Given the description of an element on the screen output the (x, y) to click on. 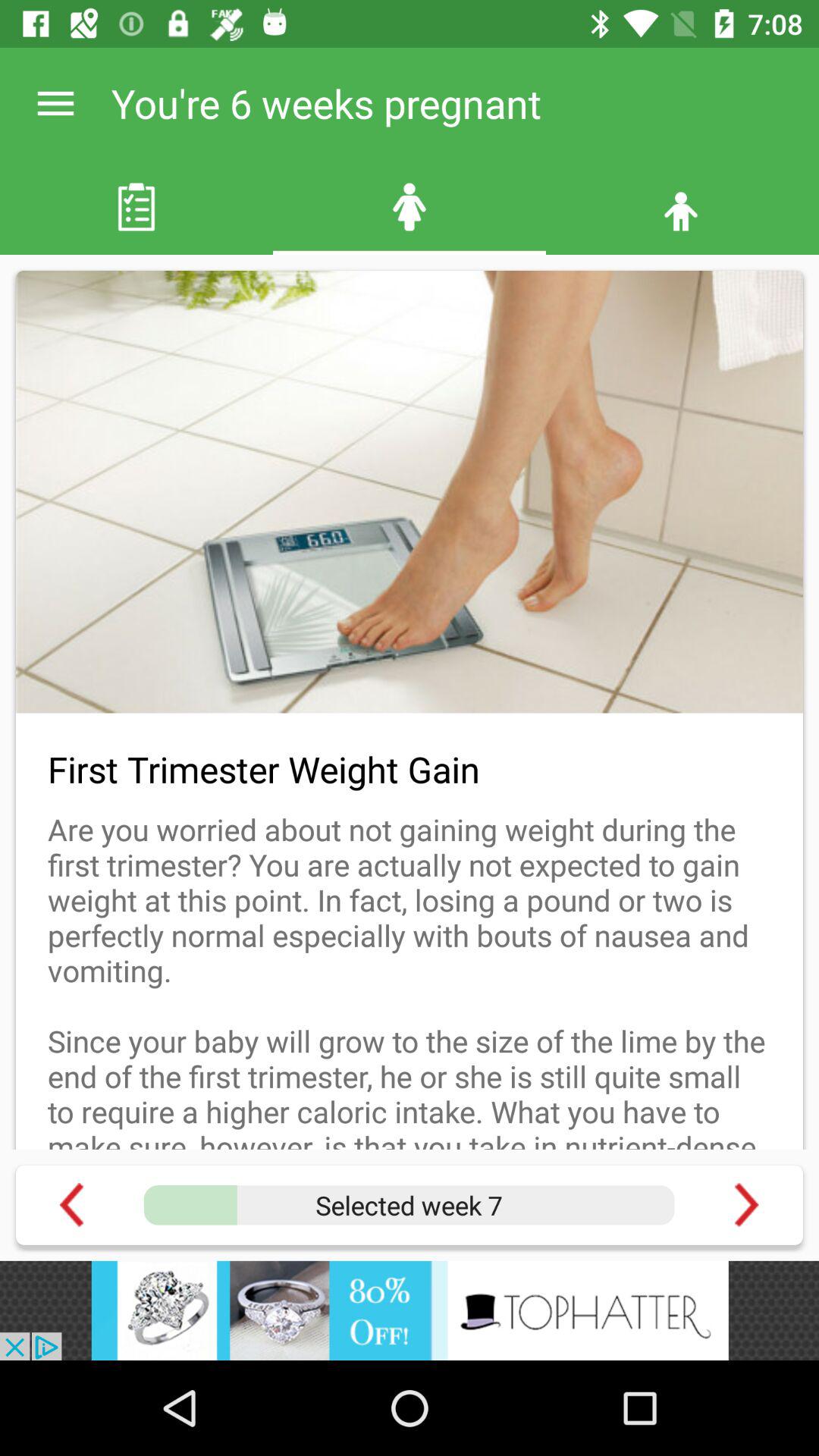
week selection (408, 1205)
